Given the description of an element on the screen output the (x, y) to click on. 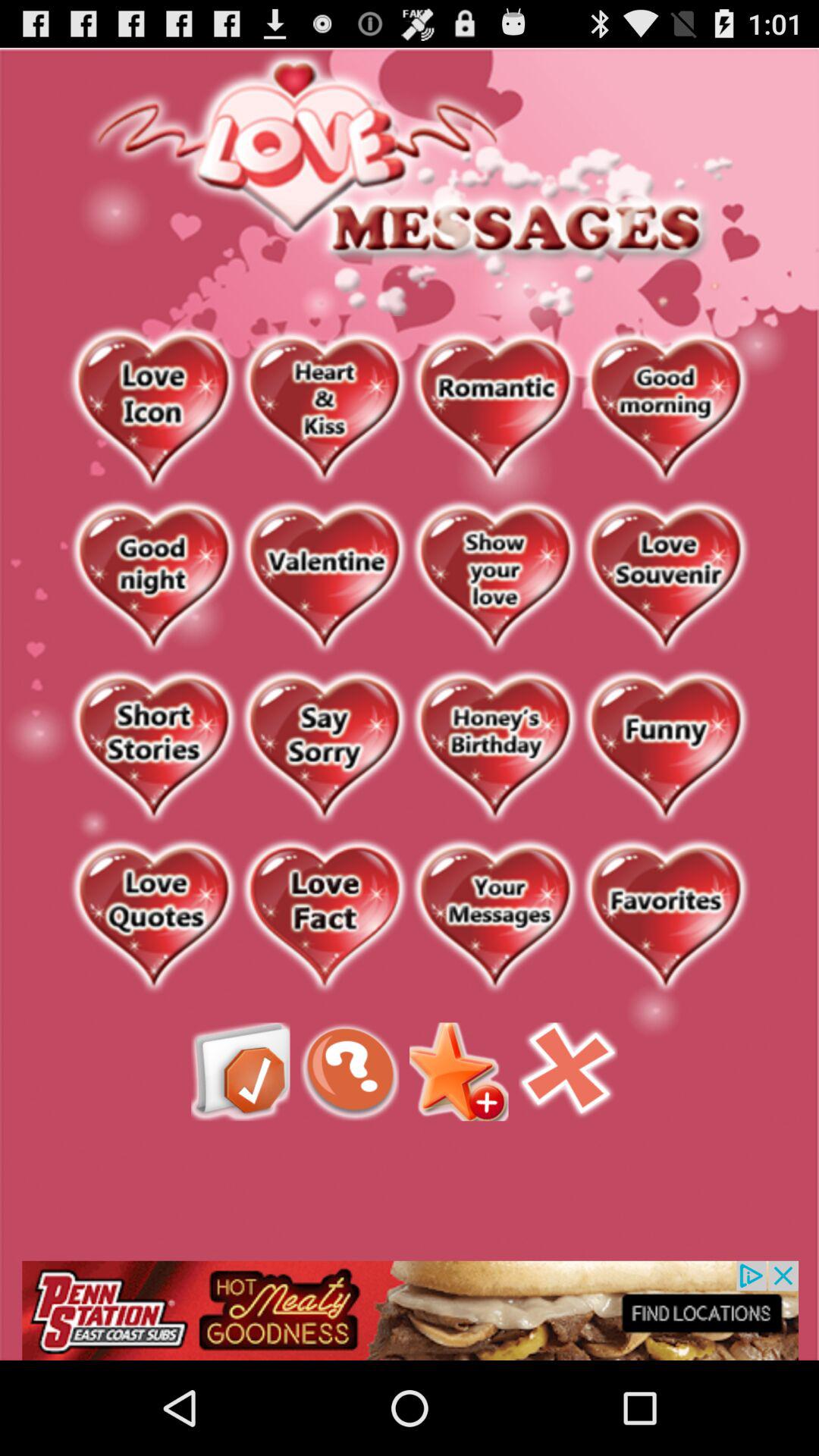
good night (153, 578)
